Given the description of an element on the screen output the (x, y) to click on. 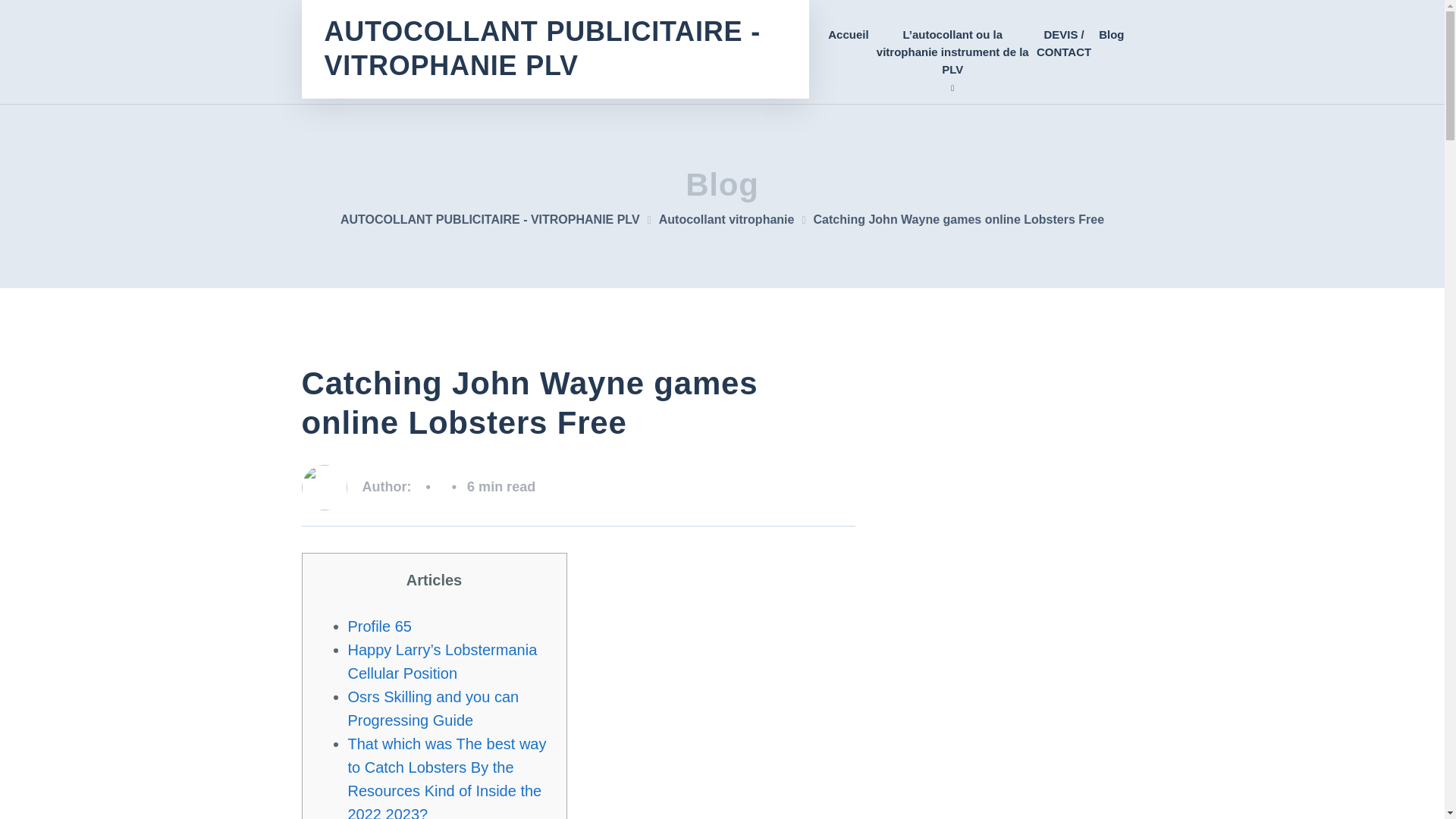
AUTOCOLLANT PUBLICITAIRE - VITROPHANIE PLV (555, 49)
AUTOCOLLANT PUBLICITAIRE - VITROPHANIE PLV (499, 219)
Osrs Skilling and you can Progressing Guide (432, 708)
Profile 65 (379, 626)
Autocollant vitrophanie (736, 219)
Go to AUTOCOLLANT PUBLICITAIRE - VITROPHANIE PLV. (499, 219)
bold (952, 52)
